Given the description of an element on the screen output the (x, y) to click on. 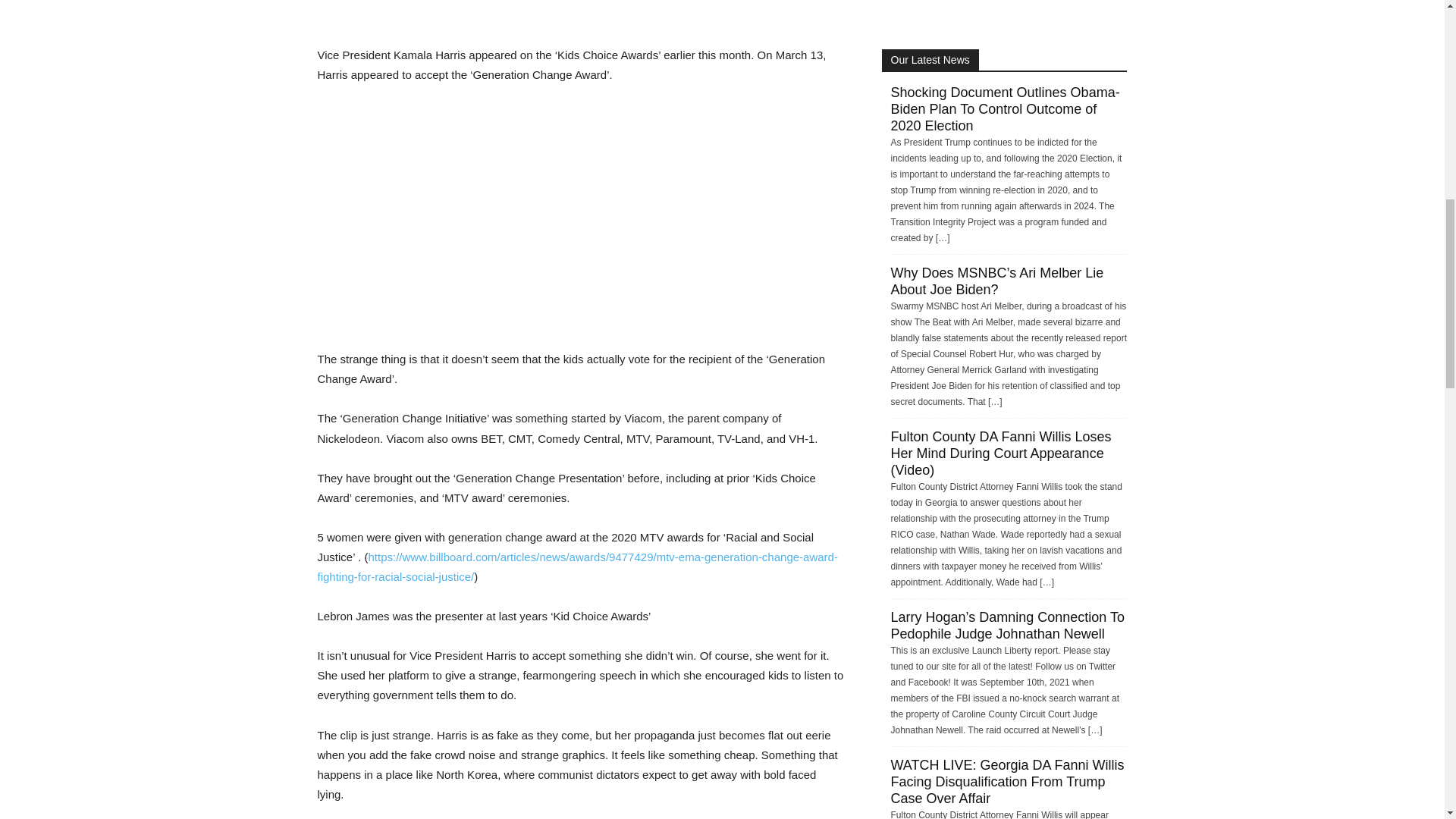
YouTube video player (529, 223)
